Given the description of an element on the screen output the (x, y) to click on. 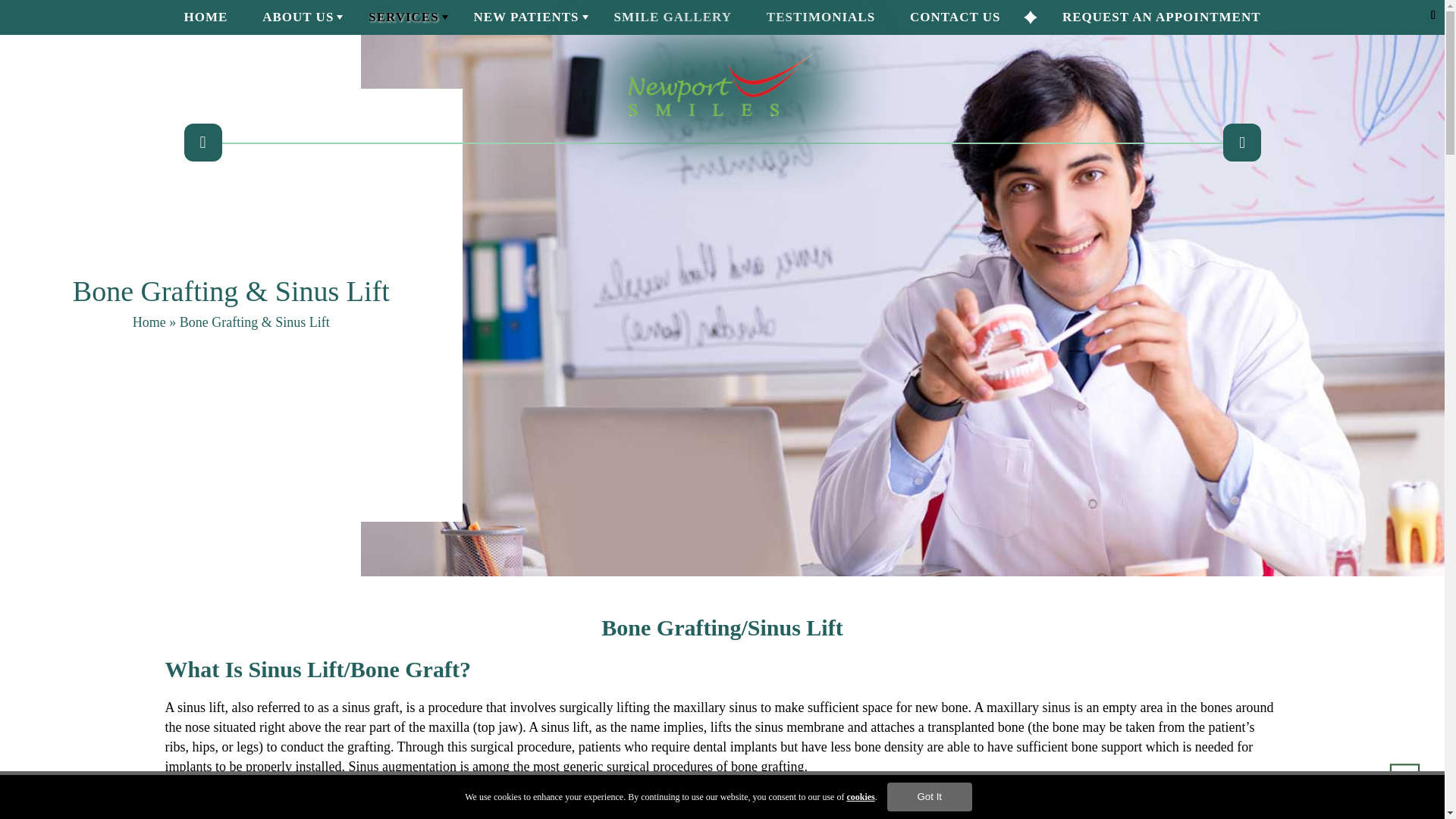
ABOUT US (297, 21)
SERVICES (403, 21)
HOME (205, 21)
